Given the description of an element on the screen output the (x, y) to click on. 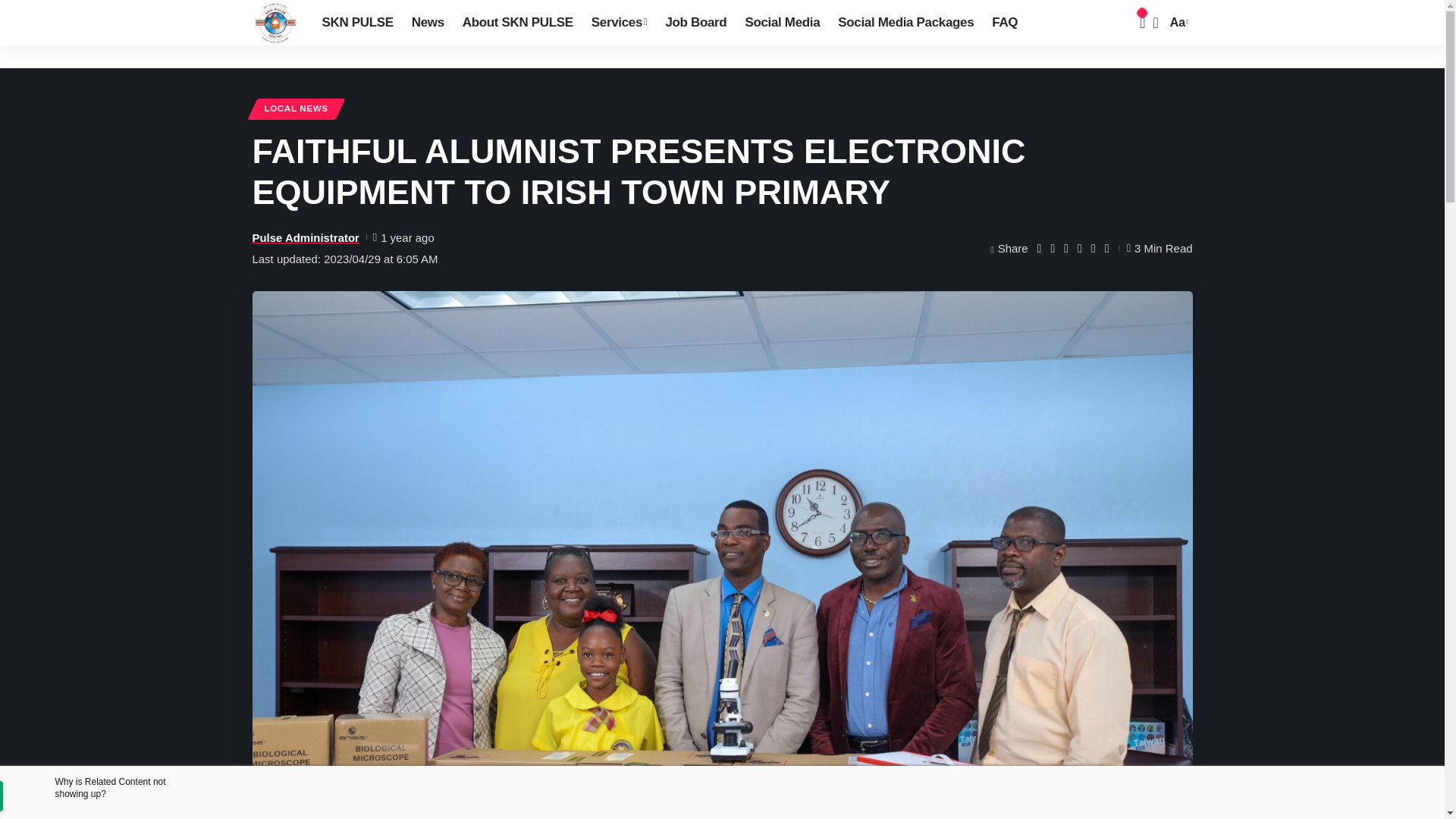
Services (619, 22)
About SKN PULSE (517, 22)
Job Board (695, 22)
Social Media (781, 22)
SKN PULSE (357, 22)
Aa (1177, 22)
News (427, 22)
SKN PULSE (274, 22)
FAQ (1004, 22)
Social Media Packages (905, 22)
